Given the description of an element on the screen output the (x, y) to click on. 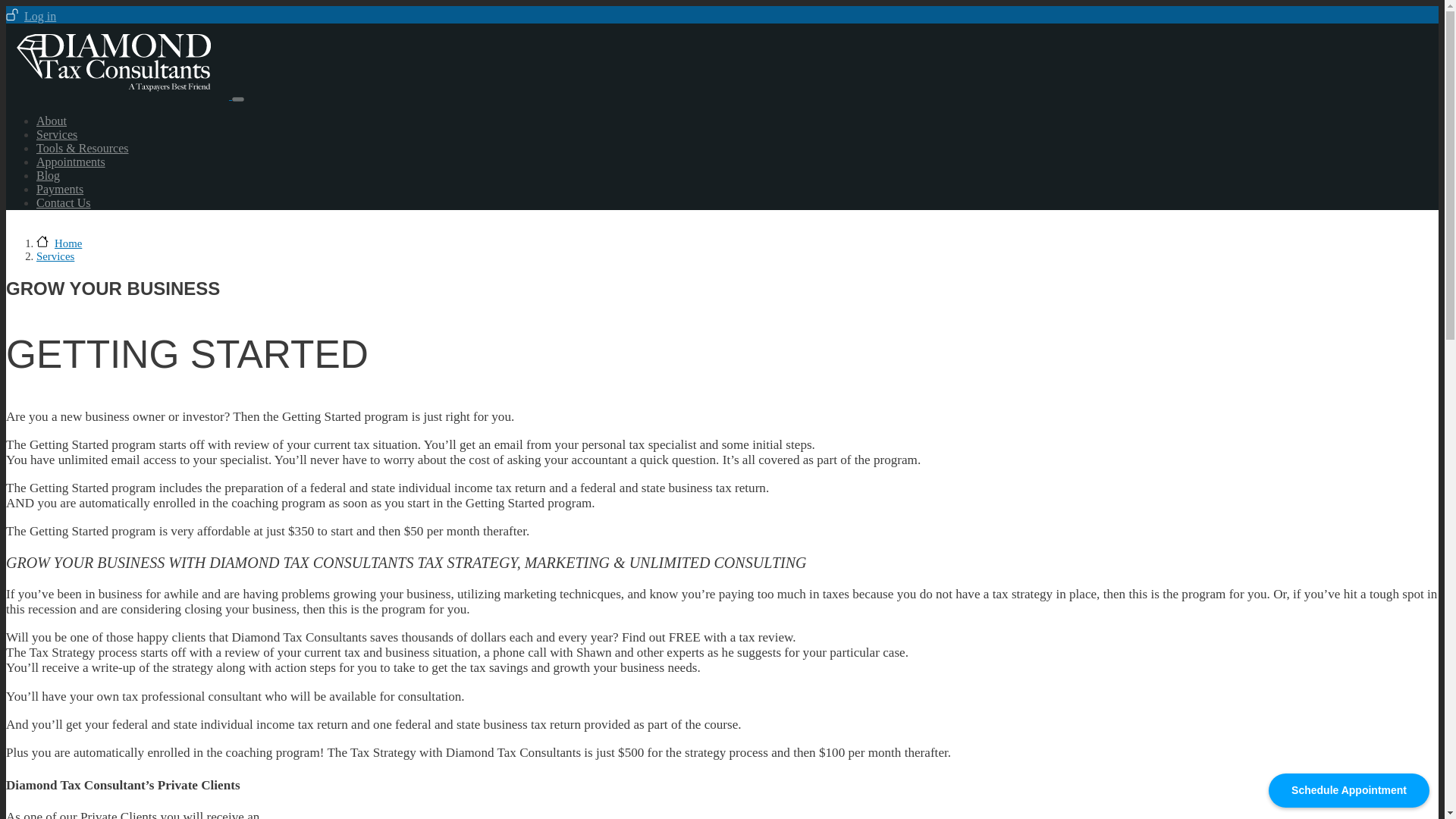
About (51, 120)
Payments (59, 188)
Home (58, 243)
Log in (30, 15)
Services (56, 133)
Blog (47, 174)
Home (118, 94)
Contact Us (63, 202)
Skip to main content (722, 7)
Services (55, 256)
Appointments (70, 161)
